Given the description of an element on the screen output the (x, y) to click on. 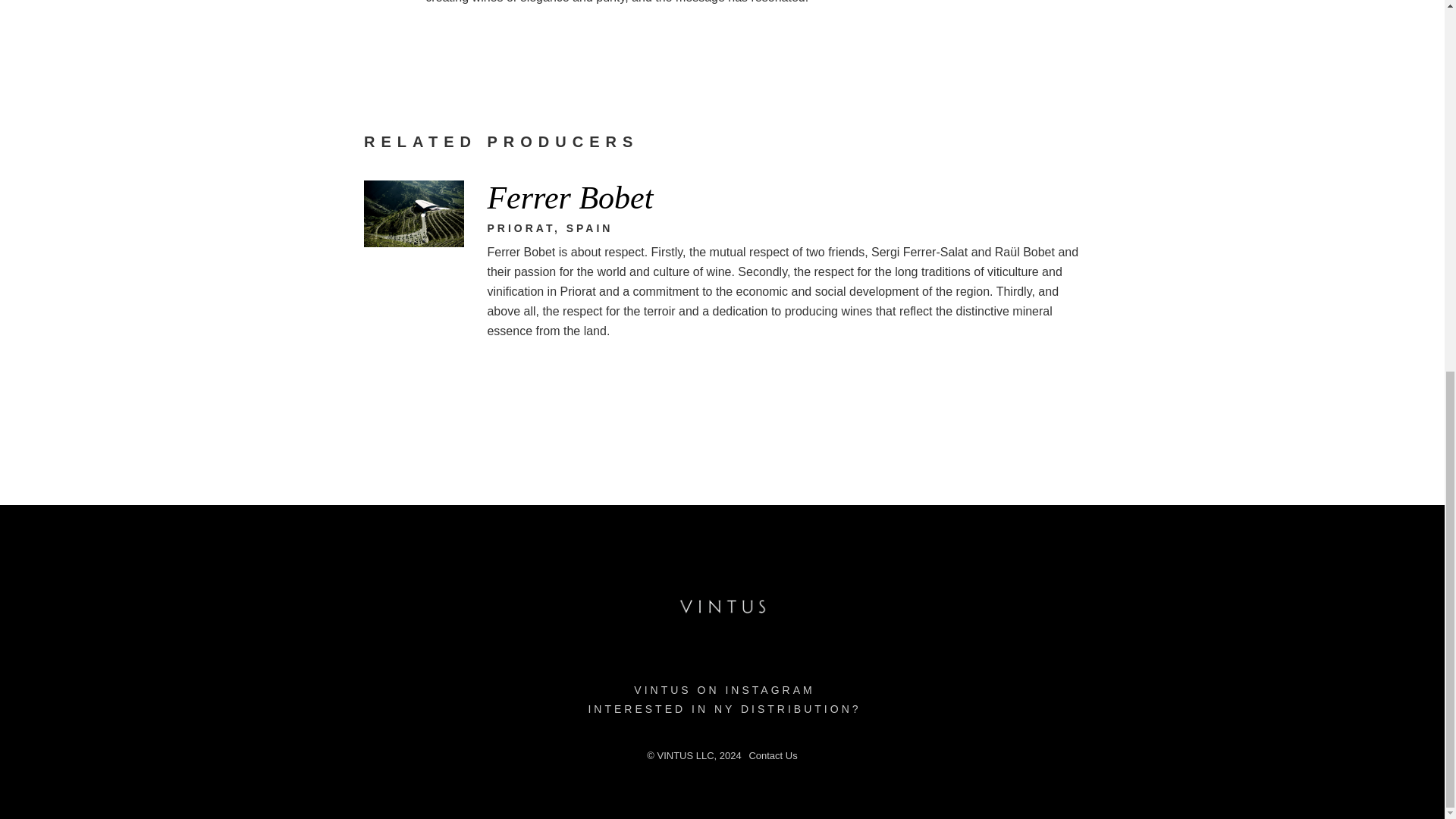
Ferrer Bobet (783, 197)
INTERESTED IN NY DISTRIBUTION? (724, 708)
VINTUS ON INSTAGRAM (723, 690)
